Given the description of an element on the screen output the (x, y) to click on. 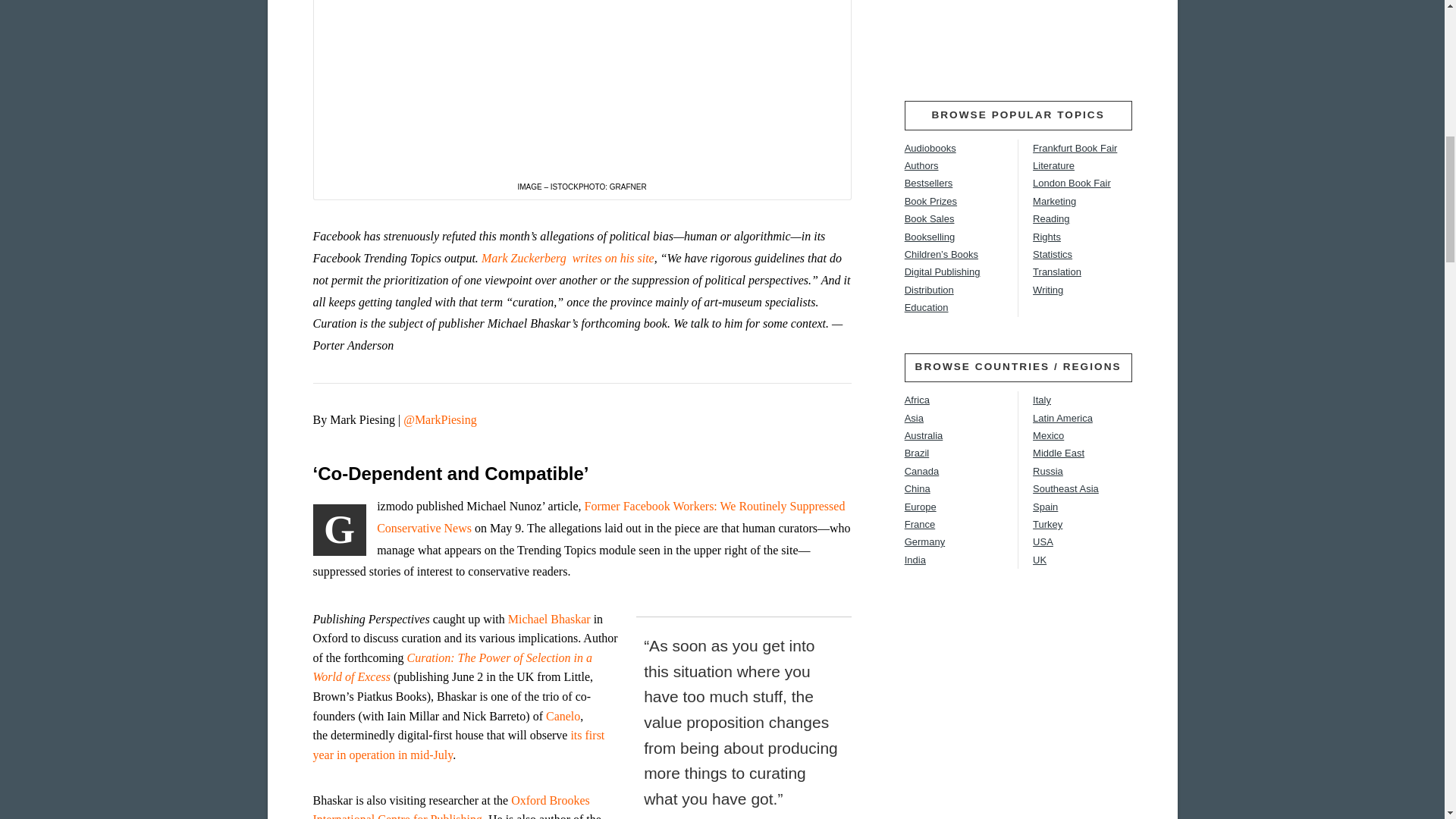
Michael Bhaskar (549, 618)
its first year in operation in mid-July (458, 744)
Curation: The Power of Selection in a World of Excess (452, 667)
Canelo (562, 716)
Mark Zuckerberg  writes on his site (567, 257)
